Given the description of an element on the screen output the (x, y) to click on. 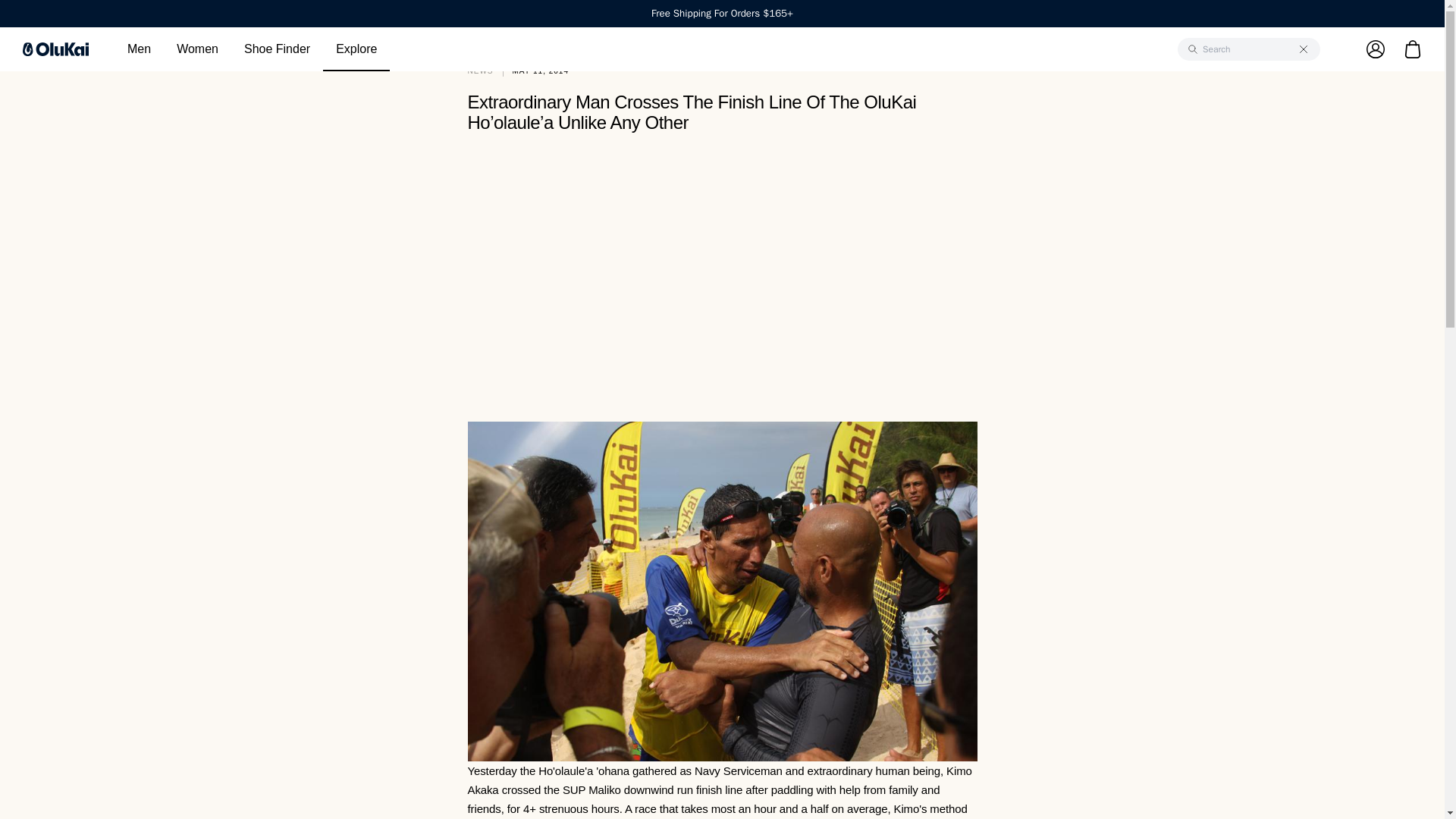
cart (1412, 49)
  account (1361, 49)
Shoe Finder (277, 49)
